Given the description of an element on the screen output the (x, y) to click on. 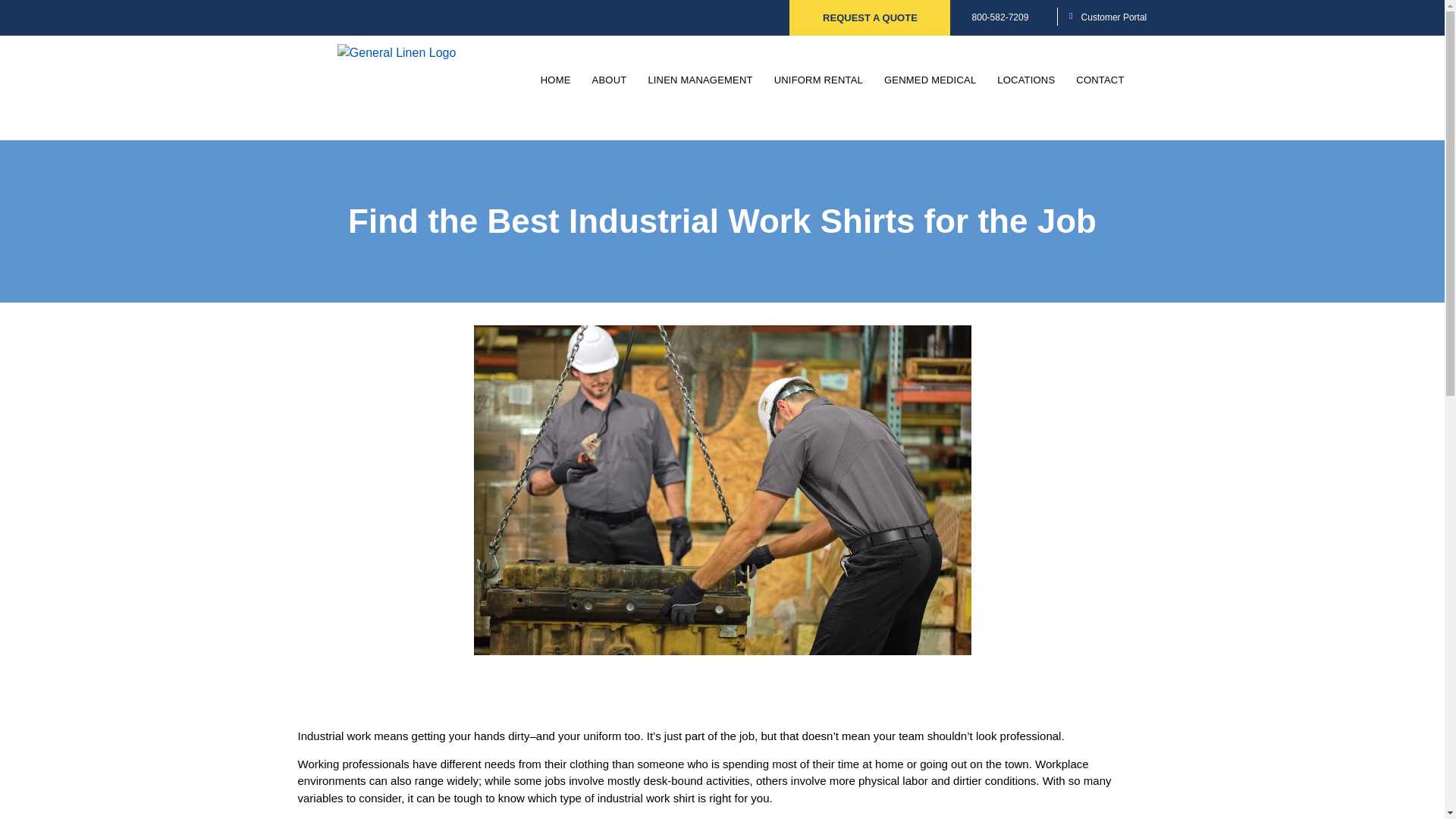
UNIFORM RENTAL (817, 80)
GENMED MEDICAL (930, 80)
REQUEST A QUOTE (870, 17)
LINEN MANAGEMENT (699, 80)
800-582-7209 (1000, 17)
LOCATIONS (1026, 80)
CONTACT (1099, 80)
Customer Portal (1114, 17)
